Given the description of an element on the screen output the (x, y) to click on. 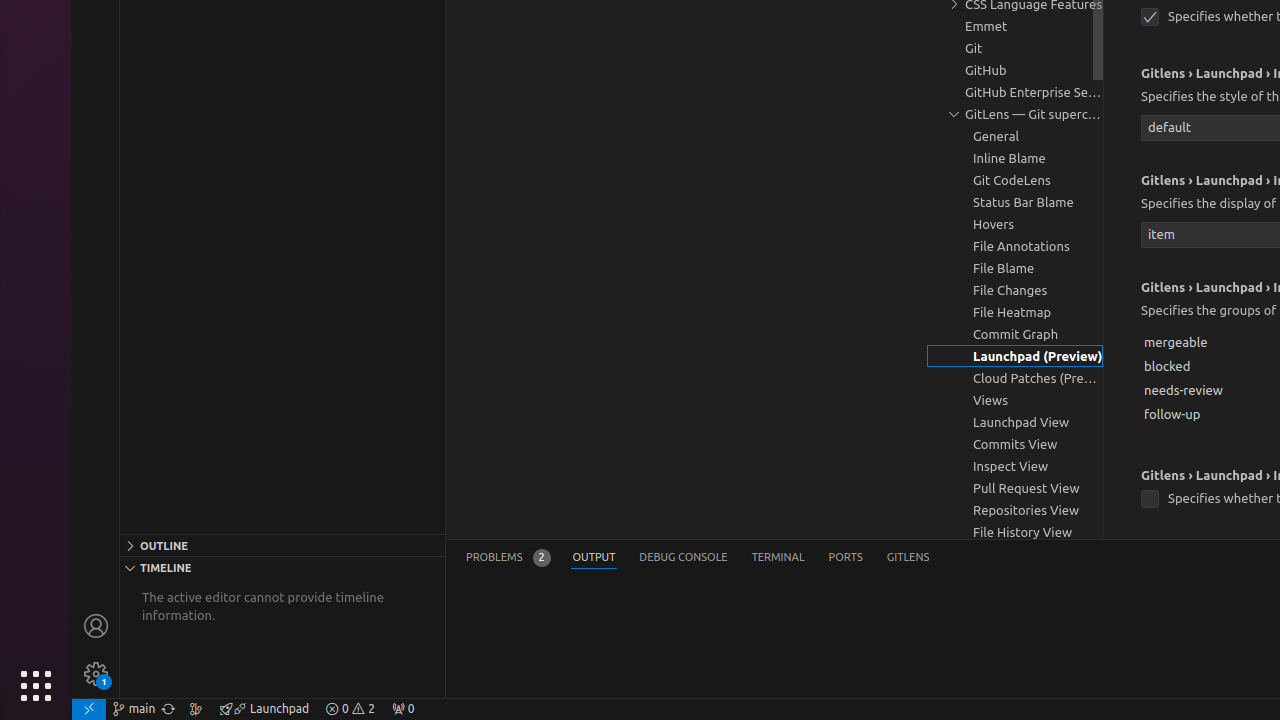
OSWorld (Git) - main, Checkout Branch/Tag... Element type: push-button (134, 709)
File Changes, group Element type: tree-item (1015, 290)
Problems (Ctrl+Shift+M) - Total 2 Problems Element type: page-tab (507, 557)
Commits View, group Element type: tree-item (1015, 444)
